Given the description of an element on the screen output the (x, y) to click on. 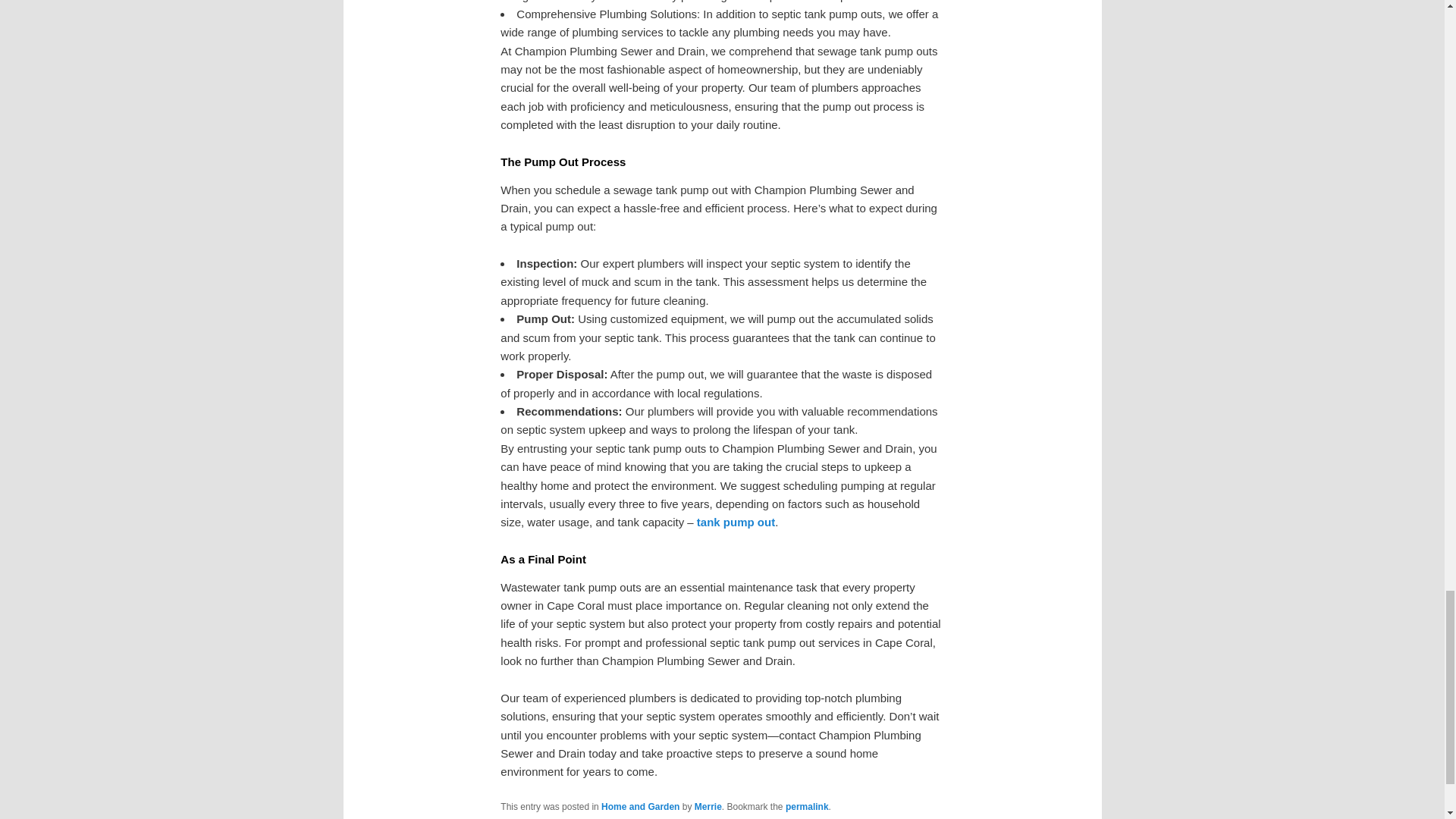
permalink (807, 806)
Merrie (708, 806)
tank pump out (735, 521)
Home and Garden (640, 806)
